Given the description of an element on the screen output the (x, y) to click on. 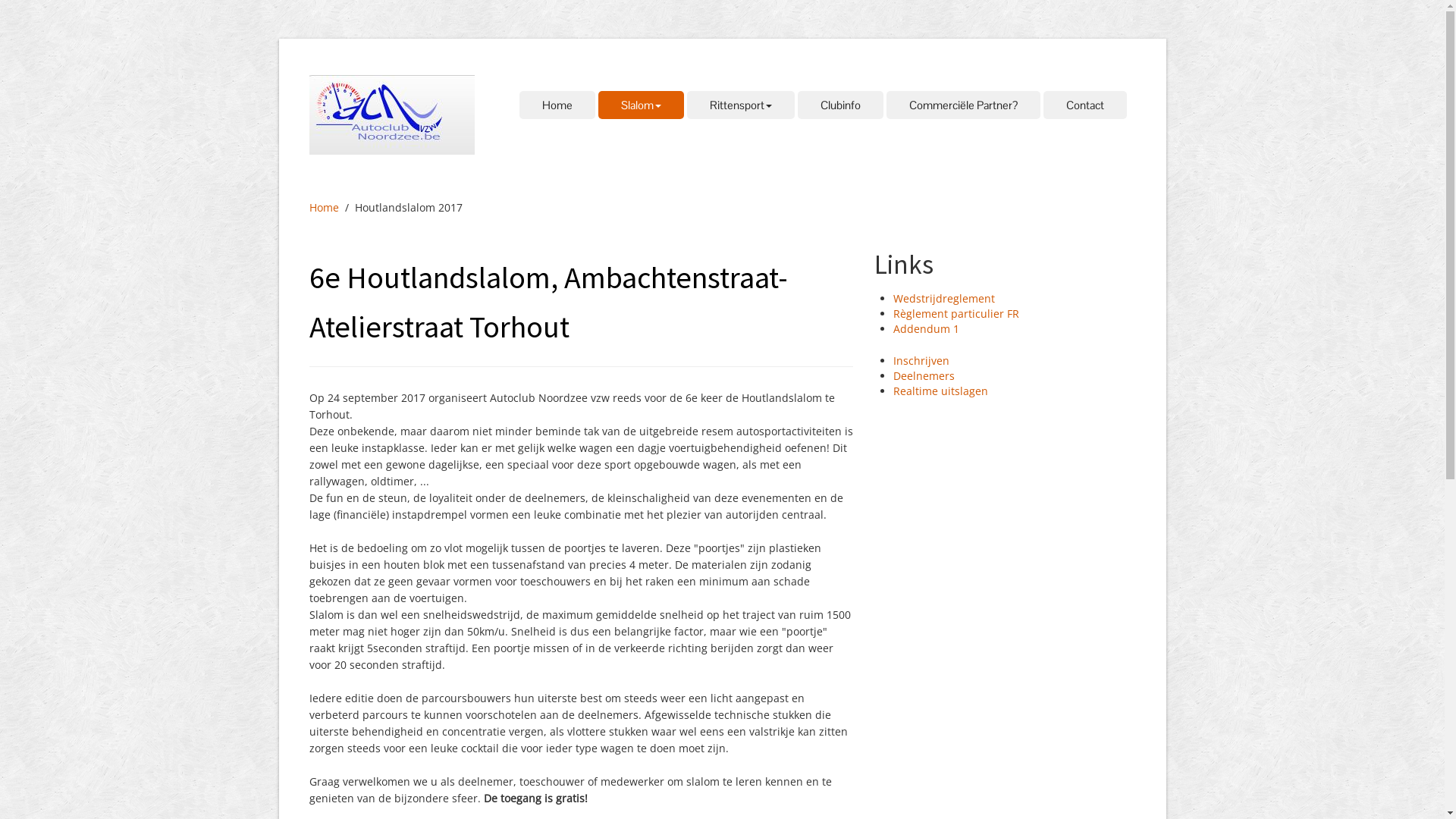
Rittensport Element type: text (740, 105)
Wedstrijdreglement Element type: text (943, 298)
Slalom Element type: text (640, 105)
Inschrijven Element type: text (921, 360)
Deelnemers Element type: text (923, 375)
Autoclub Noordzee Element type: hover (391, 114)
Home Element type: text (556, 105)
Realtime uitslagen Element type: text (940, 390)
Contact Element type: text (1084, 105)
Addendum 1 Element type: text (926, 328)
Home Element type: text (323, 207)
Clubinfo Element type: text (840, 105)
